Given the description of an element on the screen output the (x, y) to click on. 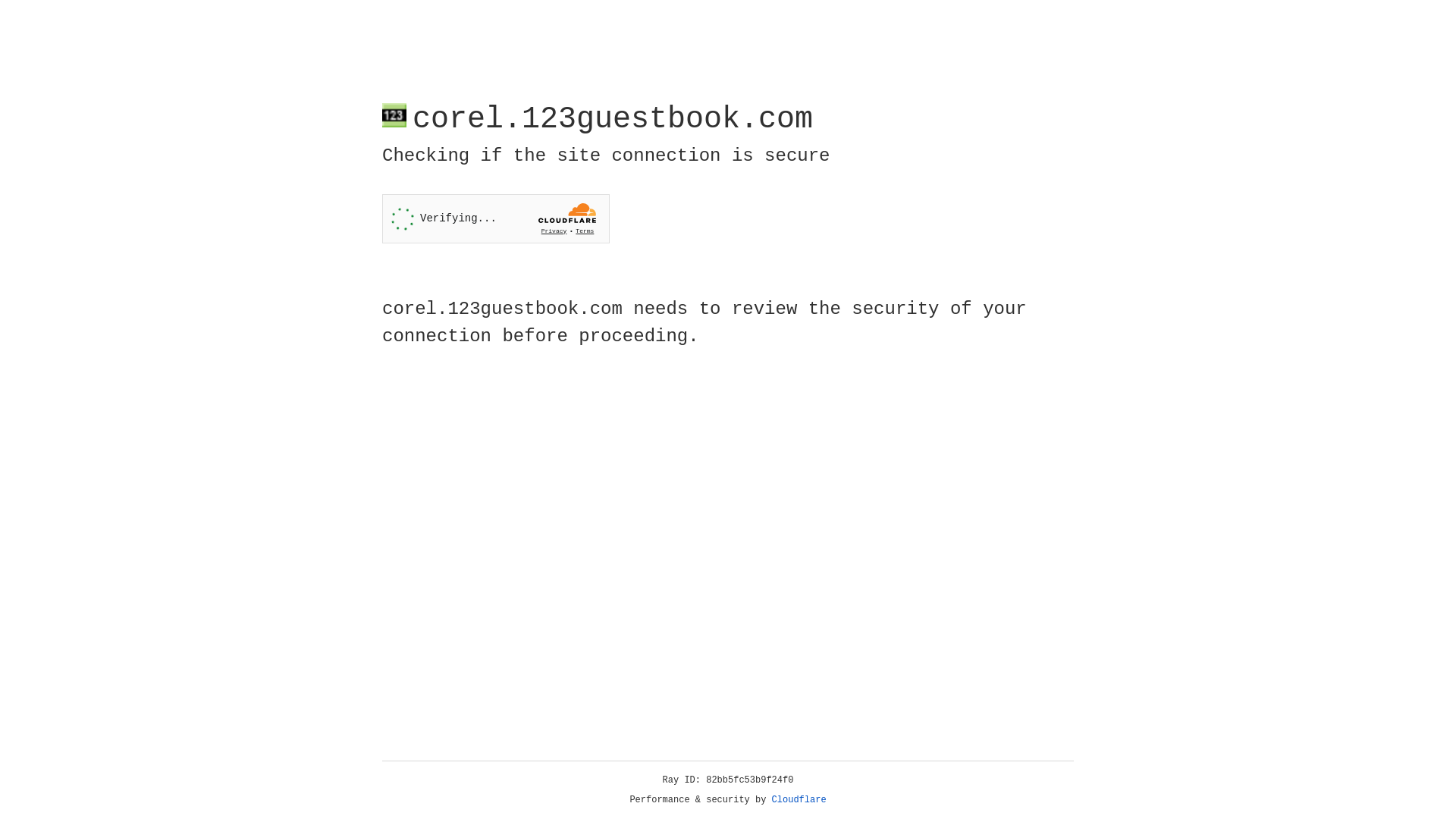
Cloudflare Element type: text (798, 799)
Widget containing a Cloudflare security challenge Element type: hover (495, 218)
